Given the description of an element on the screen output the (x, y) to click on. 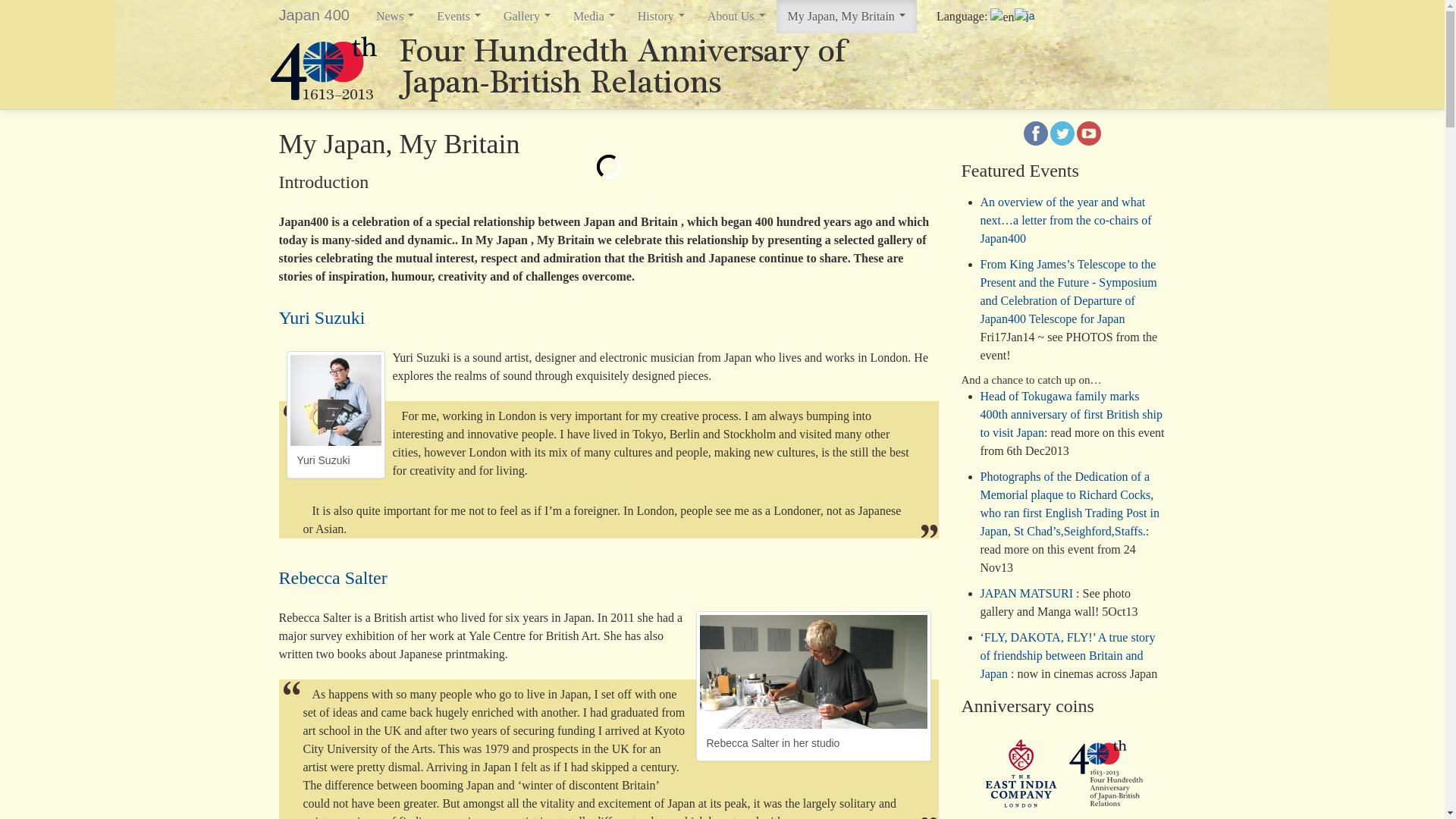
History (660, 16)
Events (458, 16)
Gallery (527, 16)
News (395, 16)
Japan 400 (314, 15)
My Japan, My Britain (846, 16)
Media (594, 16)
About Us (735, 16)
